Given the description of an element on the screen output the (x, y) to click on. 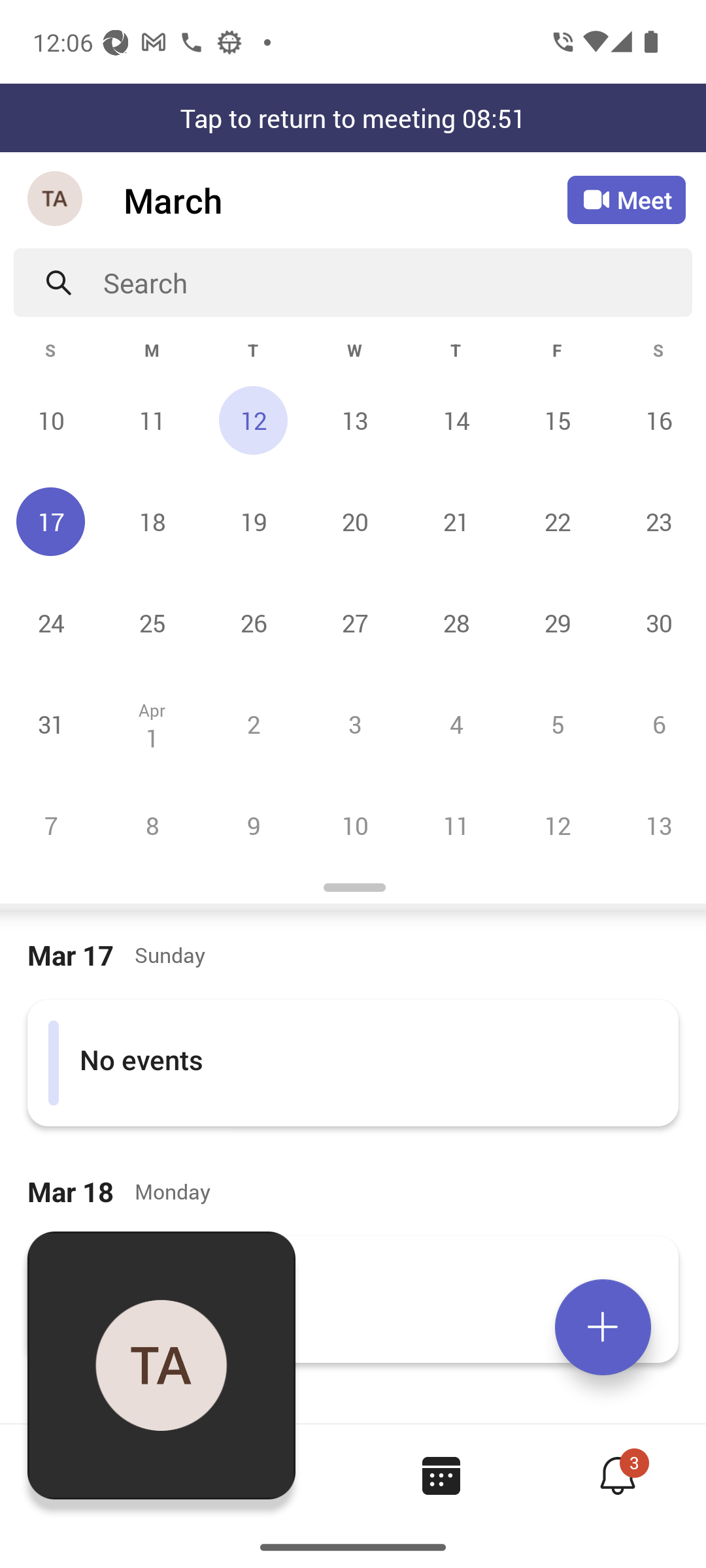
Tap to return to meeting 08:51 (353, 117)
Navigation (56, 199)
Meet Meet now or join with an ID (626, 199)
Search (397, 281)
Sunday, March 10 10 (50, 420)
Monday, March 11 11 (151, 420)
Tuesday, March 12, Today 12 (253, 420)
Wednesday, March 13 13 (354, 420)
Thursday, March 14 14 (455, 420)
Friday, March 15 15 (556, 420)
Saturday, March 16 16 (656, 420)
Sunday, March 17, Selected 17 (50, 521)
Monday, March 18 18 (151, 521)
Tuesday, March 19 19 (253, 521)
Wednesday, March 20 20 (354, 521)
Thursday, March 21 21 (455, 521)
Friday, March 22 22 (556, 521)
Saturday, March 23 23 (656, 521)
Sunday, March 24 24 (50, 623)
Monday, March 25 25 (151, 623)
Tuesday, March 26 26 (253, 623)
Wednesday, March 27 27 (354, 623)
Thursday, March 28 28 (455, 623)
Friday, March 29 29 (556, 623)
Saturday, March 30 30 (656, 623)
Sunday, March 31 31 (50, 724)
Monday, April 1 Apr 1 (151, 724)
Tuesday, April 2 2 (253, 724)
Wednesday, April 3 3 (354, 724)
Thursday, April 4 4 (455, 724)
Friday, April 5 5 (556, 724)
Saturday, April 6 6 (656, 724)
Sunday, April 7 7 (50, 825)
Monday, April 8 8 (151, 825)
Tuesday, April 9 9 (253, 825)
Wednesday, April 10 10 (354, 825)
Thursday, April 11 11 (455, 825)
Friday, April 12 12 (556, 825)
Saturday, April 13 13 (656, 825)
Expand meetings menu (602, 1327)
Calendar tab, 3 of 4 (441, 1475)
Activity tab,4 of 4, not selected, 3 new 3 (617, 1475)
